Given the description of an element on the screen output the (x, y) to click on. 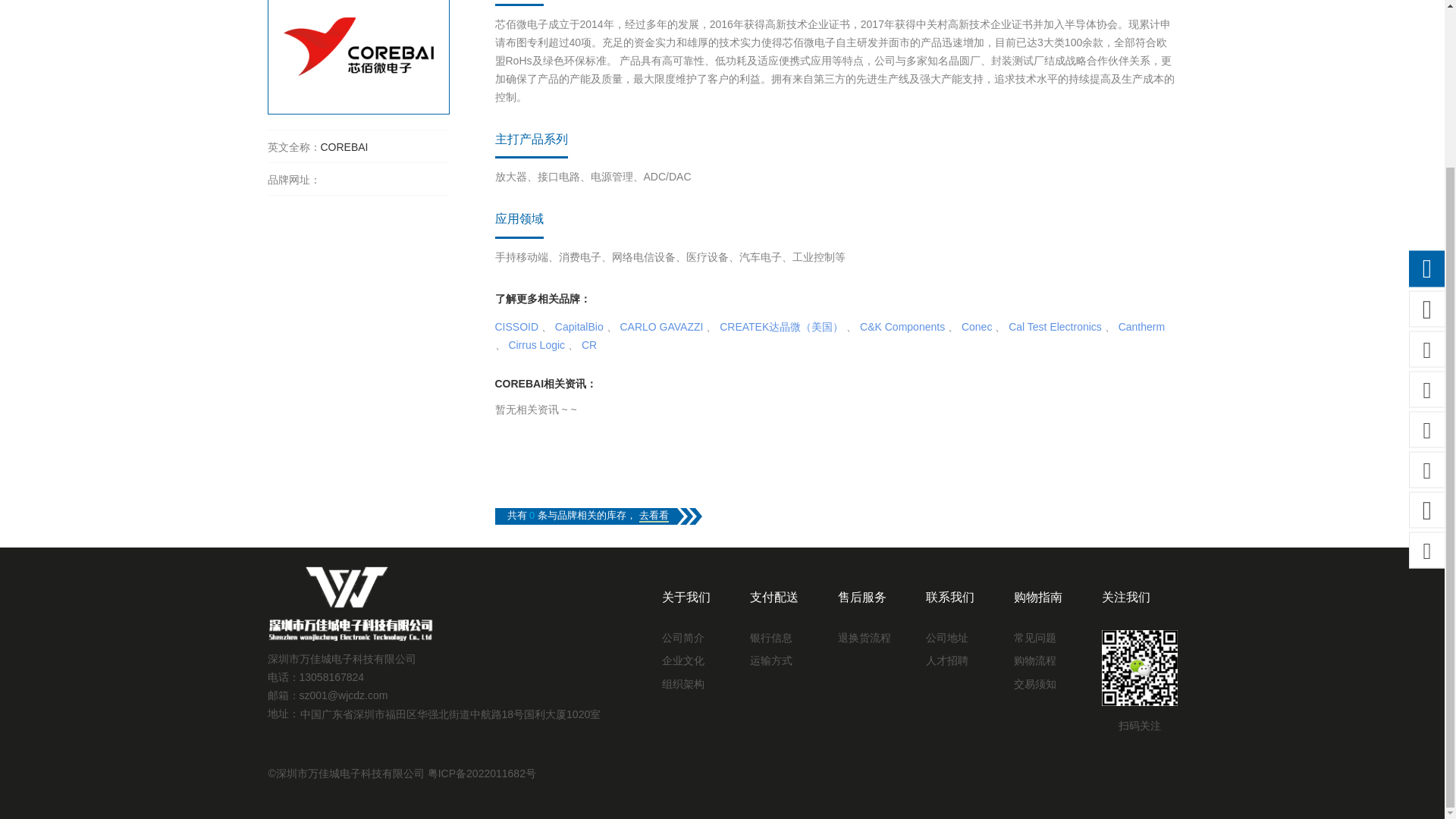
Cirrus Logic (536, 345)
Conec (975, 326)
CR (588, 345)
Cantherm (1141, 326)
CARLO GAVAZZI (661, 326)
CapitalBio (579, 326)
Cal Test Electronics (1055, 326)
CISSOID (516, 326)
